Given the description of an element on the screen output the (x, y) to click on. 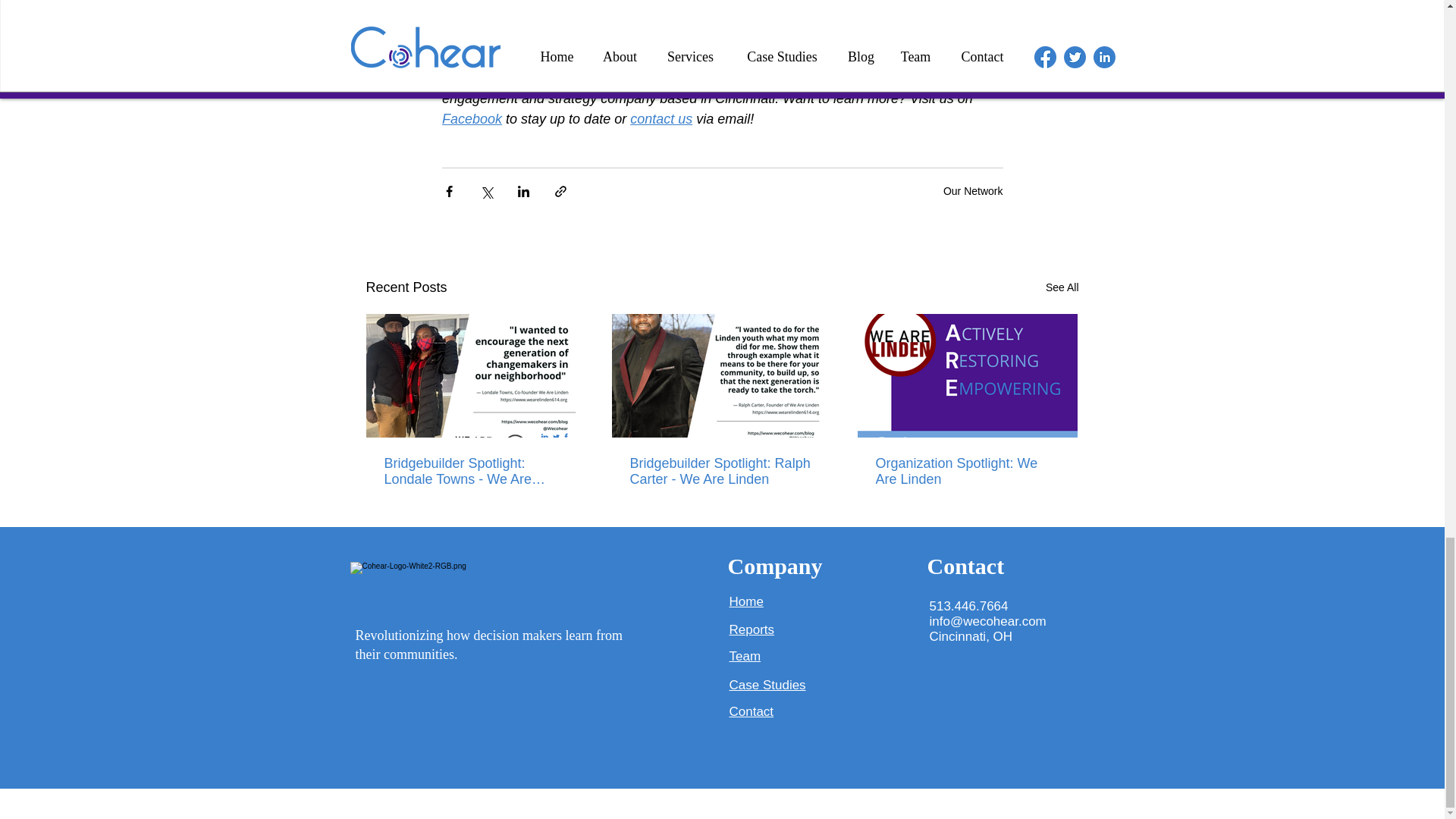
Facebook (470, 118)
Reports (751, 629)
Case Studies (767, 684)
Bridgebuilder Spotlight: Londale Towns - We Are Linden (475, 471)
Bridgebuilder Spotlight: Ralph Carter - We Are Linden (720, 471)
Our Network (973, 190)
Team (745, 656)
See All (1061, 287)
Organization Spotlight: We Are Linden (966, 471)
Cohear (867, 77)
Home (745, 601)
contact us (661, 118)
